Given the description of an element on the screen output the (x, y) to click on. 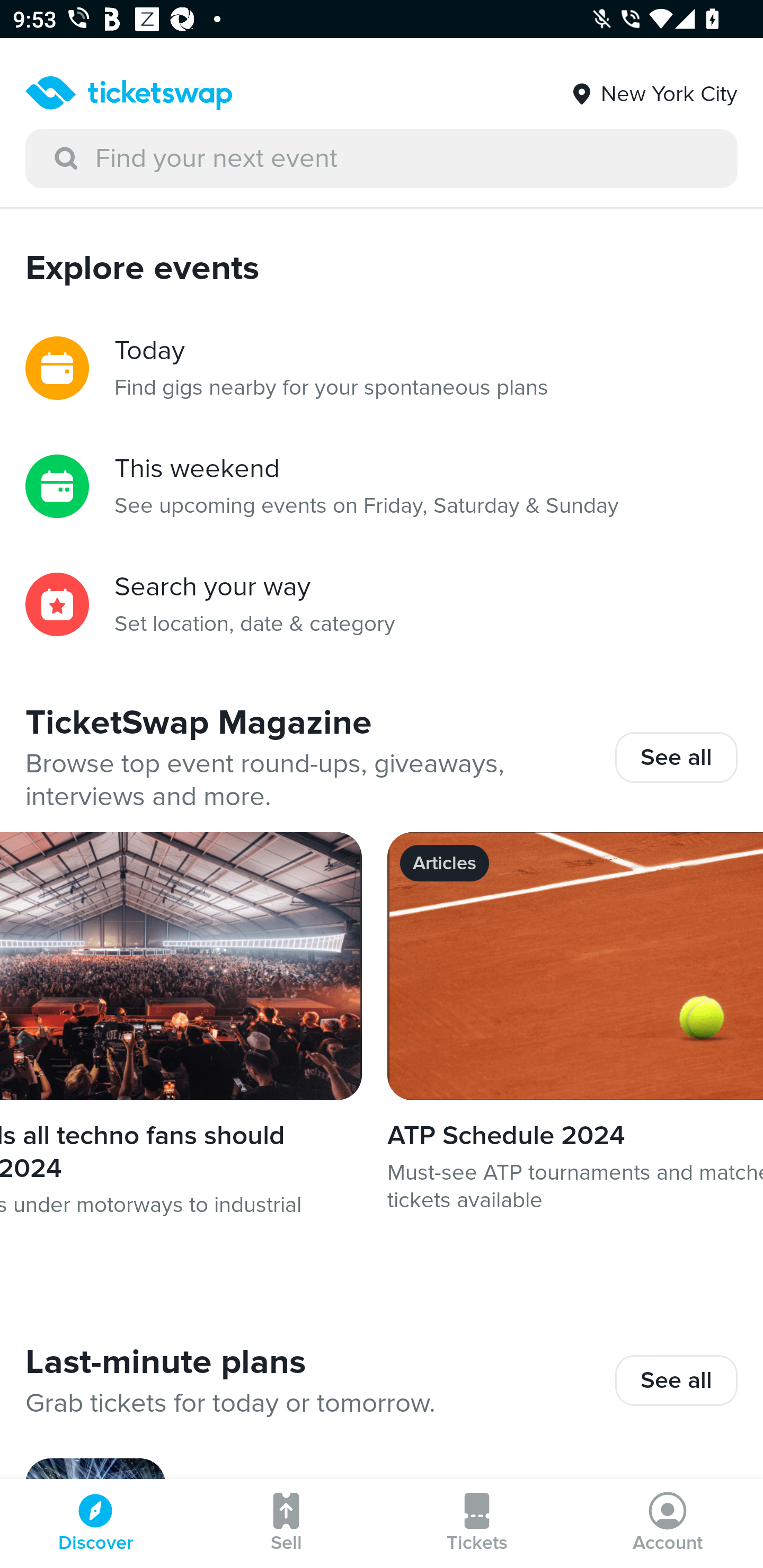
New York City (653, 87)
Find your next event (381, 158)
Today Find gigs nearby for your spontaneous plans (381, 367)
Search your way Set location, date & category (381, 604)
See all (675, 756)
See all (675, 1380)
Sell (285, 1523)
Tickets (476, 1523)
Account (667, 1523)
